Given the description of an element on the screen output the (x, y) to click on. 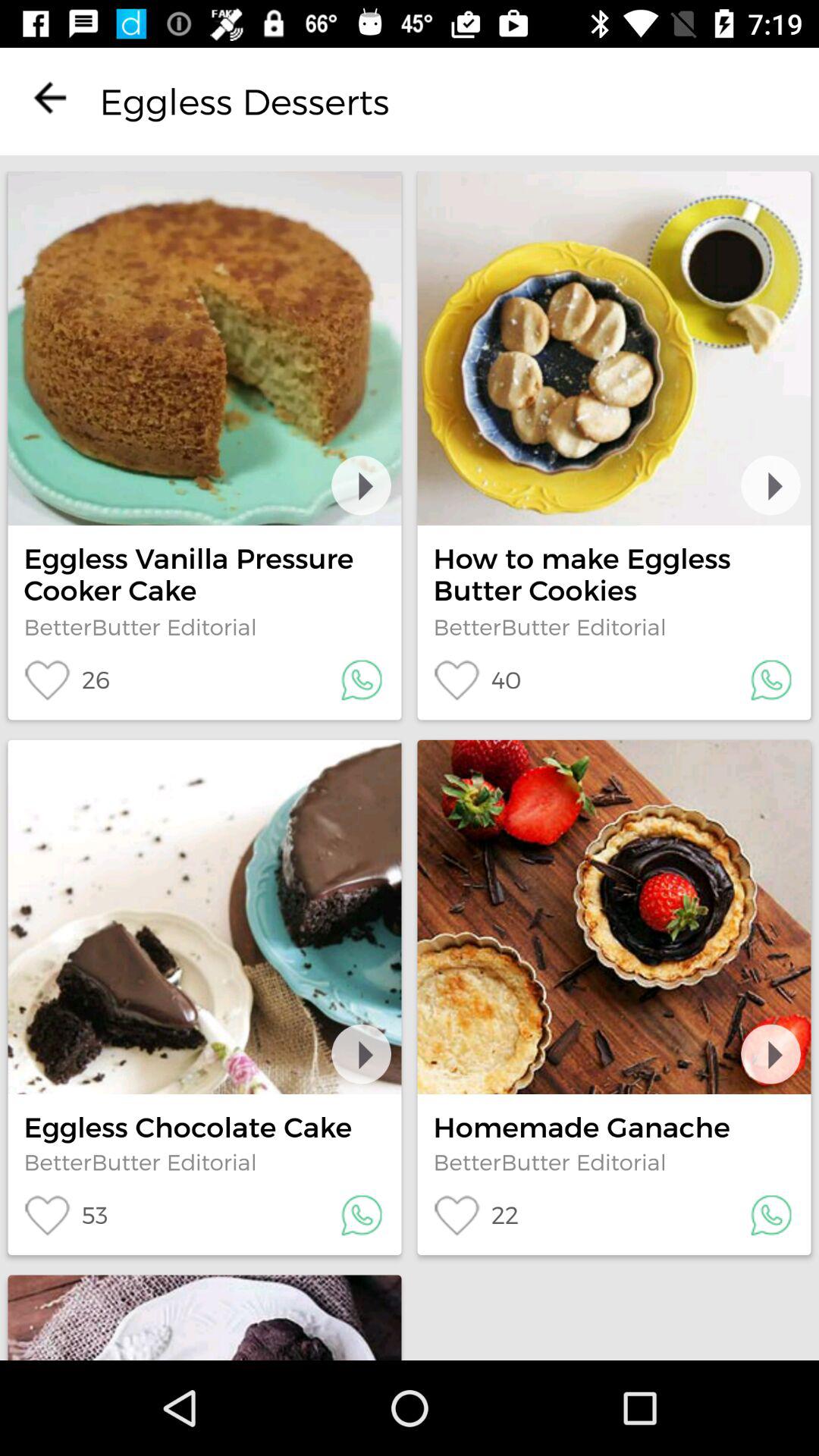
choose 40 item (477, 680)
